Given the description of an element on the screen output the (x, y) to click on. 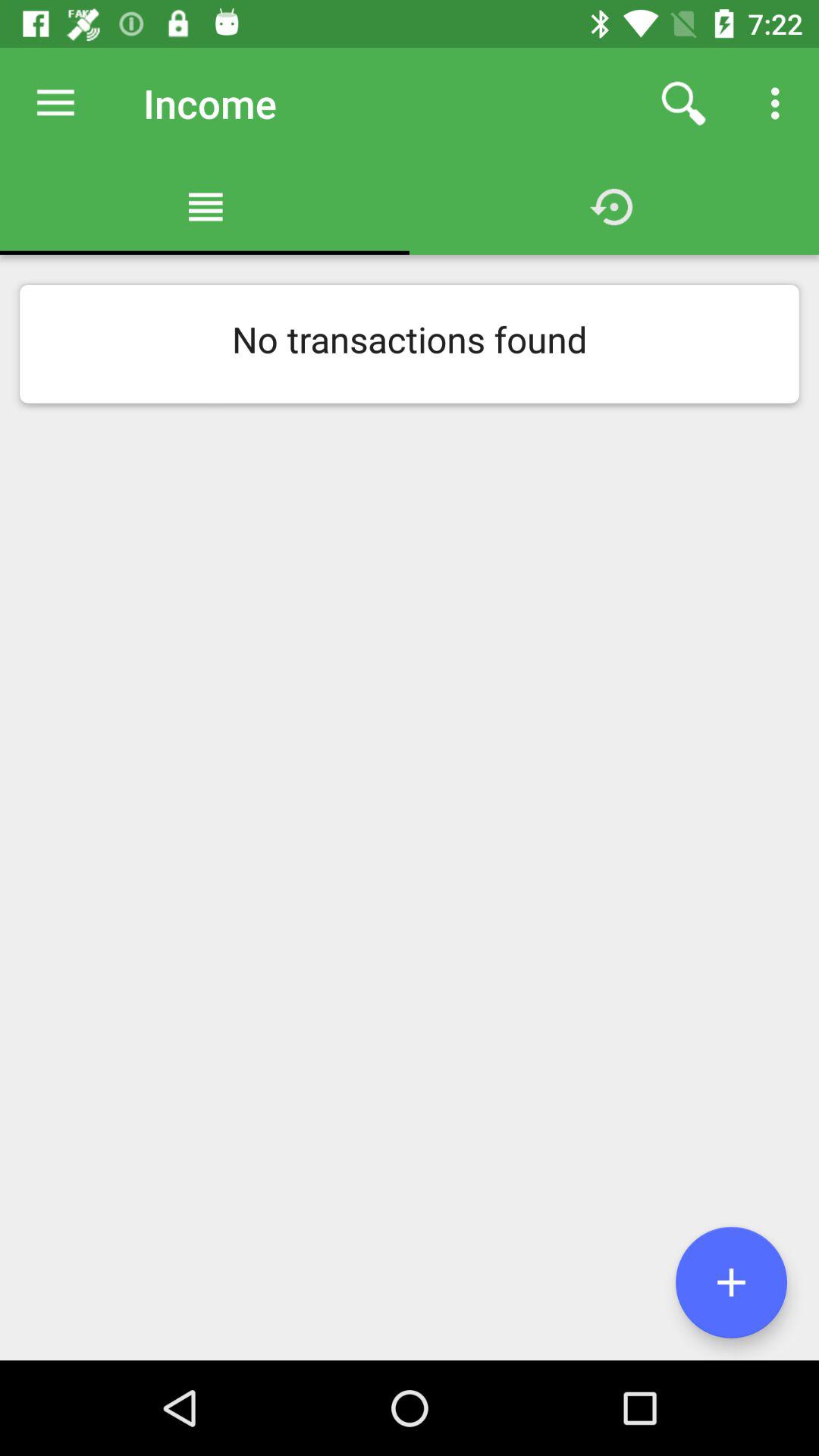
open the item above no transactions found item (55, 103)
